Given the description of an element on the screen output the (x, y) to click on. 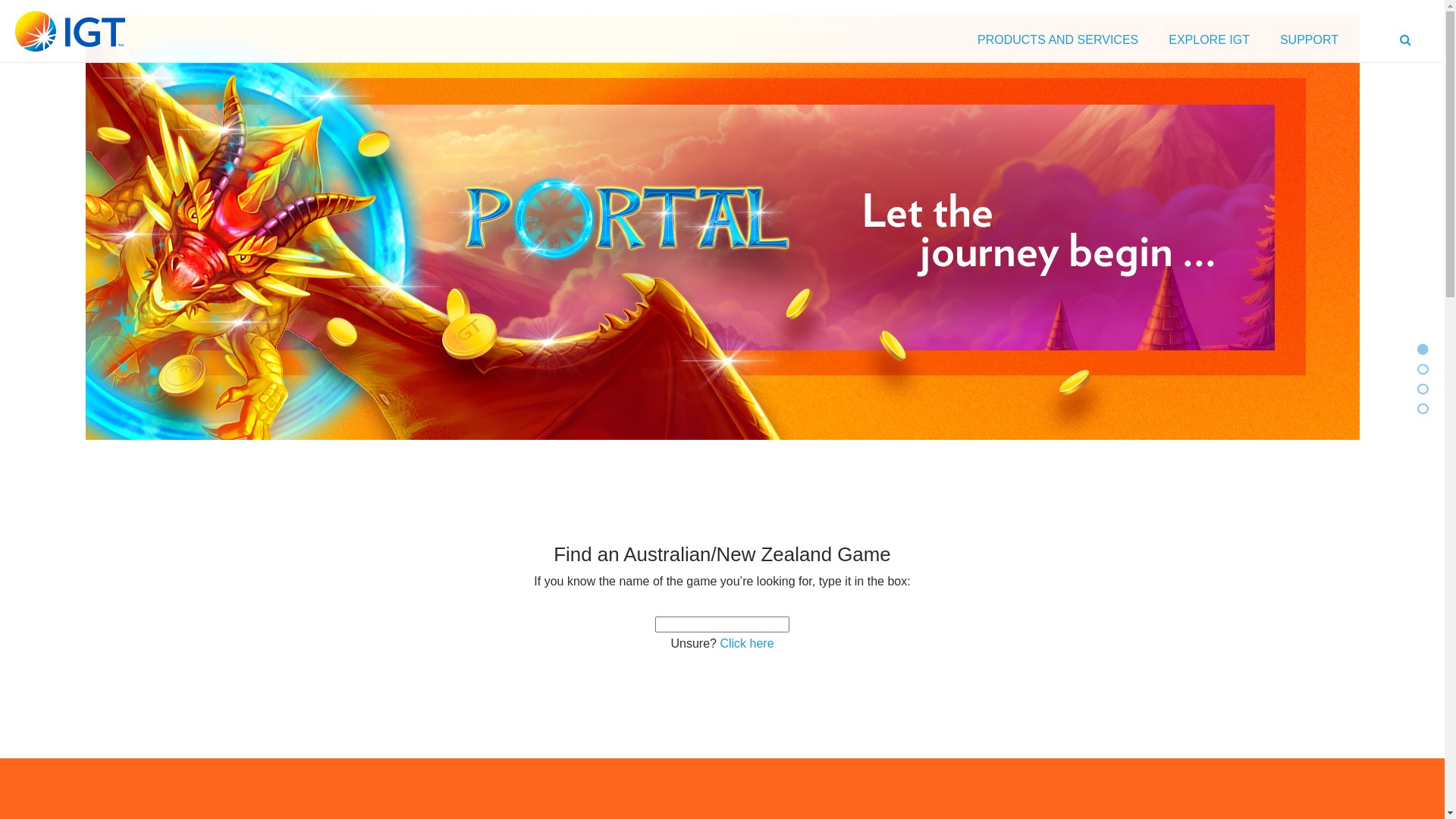
Find a Game Element type: hover (1422, 369)
SUPPORT Element type: text (1308, 43)
  Element type: text (1406, 43)
IGT Element type: text (70, 31)
PRODUCTS AND SERVICES Element type: text (1057, 43)
About IGT Element type: hover (1422, 389)
EXPLORE IGT Element type: text (1208, 43)
Click here Element type: text (746, 643)
Industry Leading Products & Services Element type: hover (1422, 408)
What's Hot Element type: hover (1422, 349)
